Given the description of an element on the screen output the (x, y) to click on. 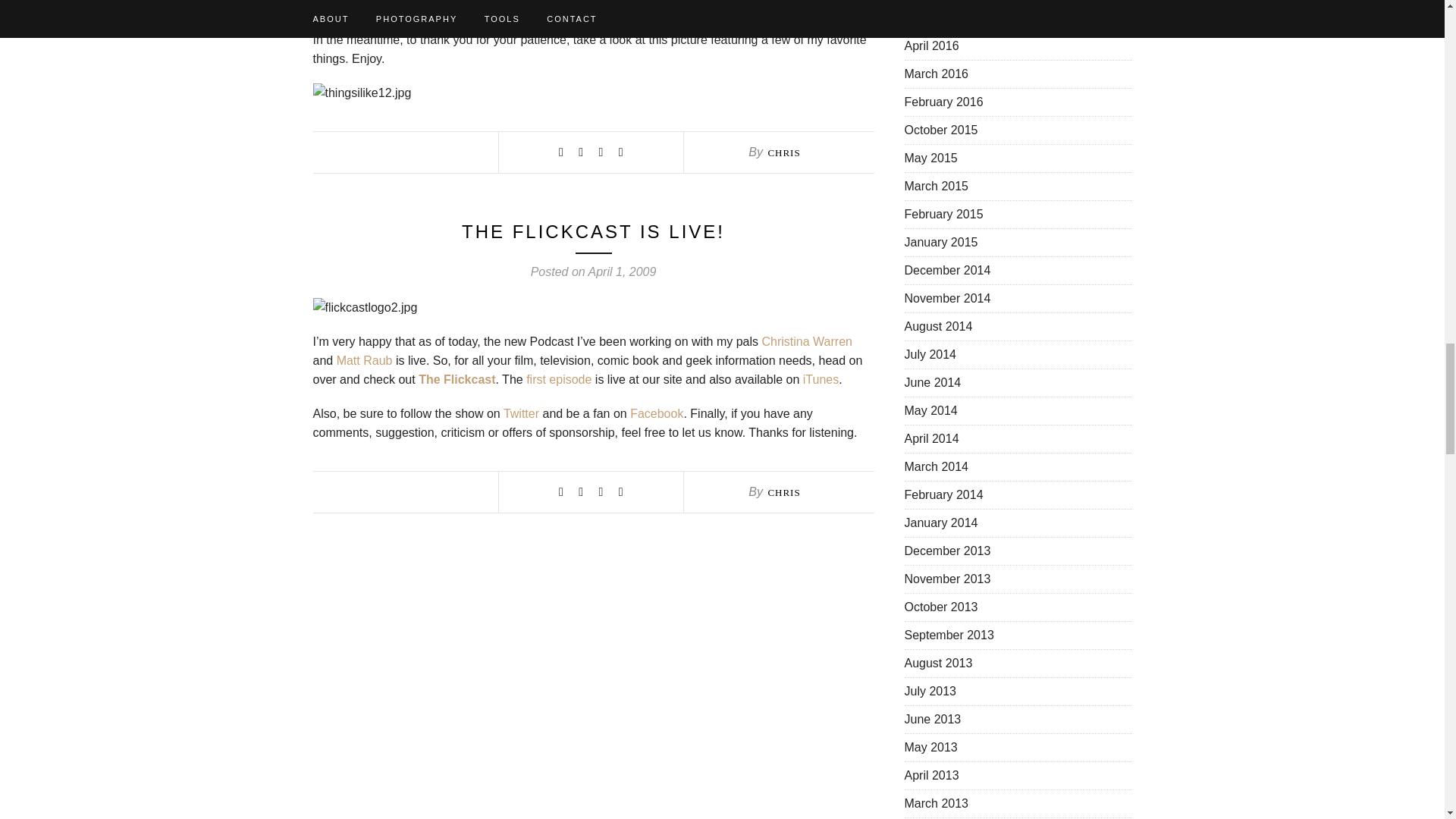
Posts by Chris (783, 491)
Posts by Chris (783, 152)
